Given the description of an element on the screen output the (x, y) to click on. 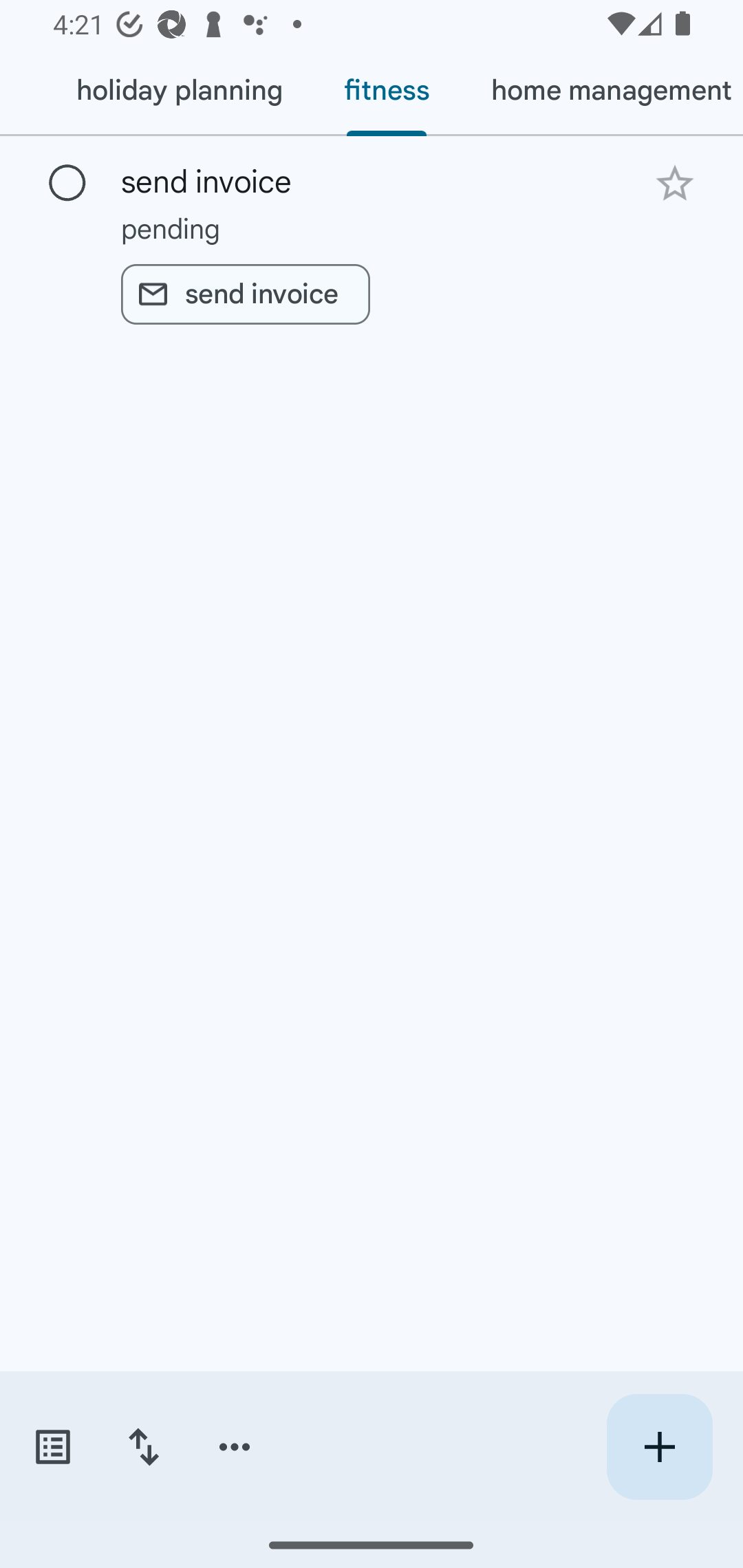
reminders (22, 90)
holiday planning (178, 90)
home management (601, 90)
Add star (674, 182)
Mark as complete (67, 183)
pending (371, 228)
send invoice Related link (245, 294)
Switch task lists (52, 1447)
Create new task (659, 1446)
Change sort order (143, 1446)
More options (234, 1446)
